Given the description of an element on the screen output the (x, y) to click on. 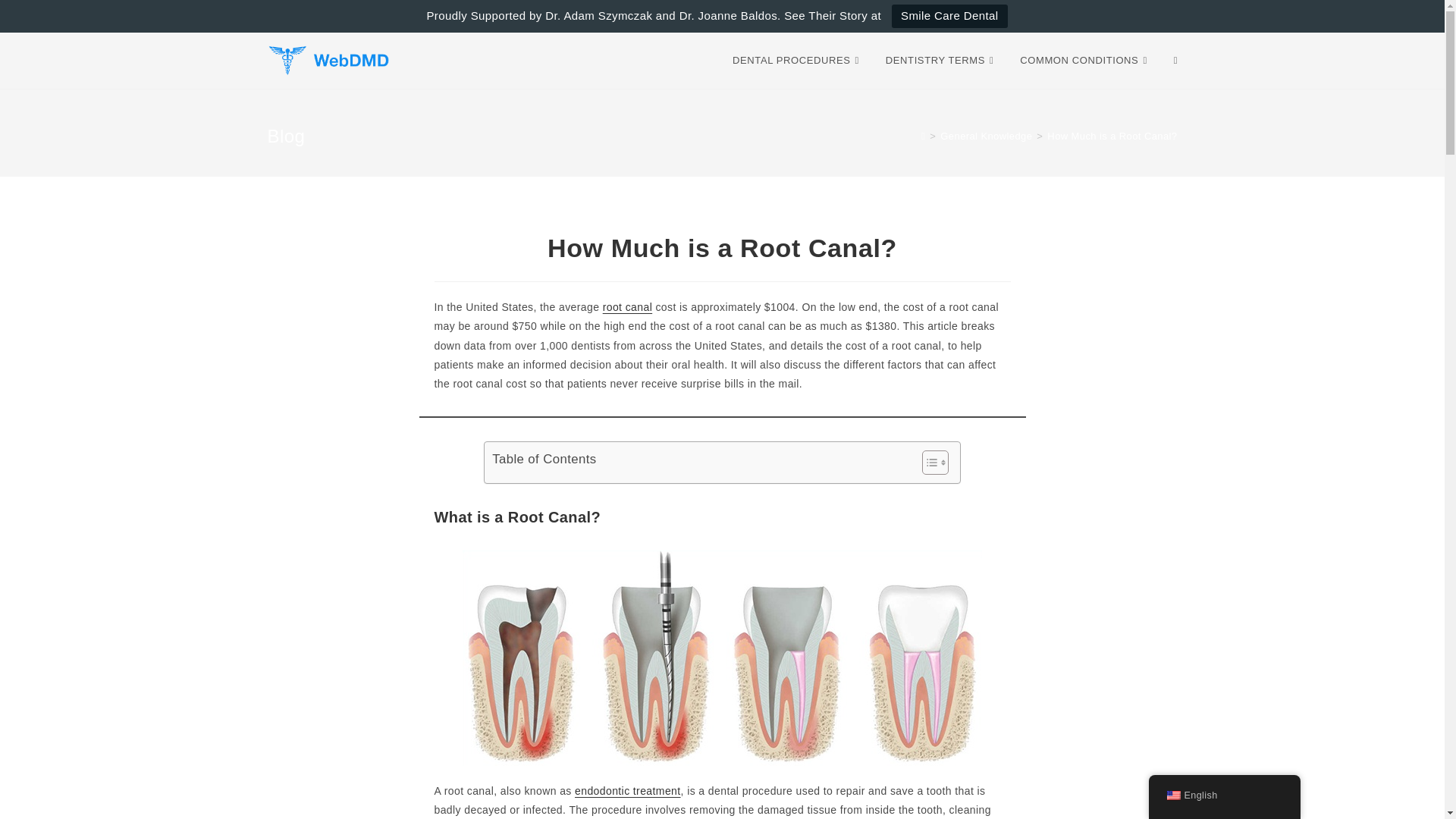
DENTISTRY TERMS (942, 60)
Smile Care Dental (949, 15)
COMMON CONDITIONS (1085, 60)
DENTAL PROCEDURES (797, 60)
